Given the description of an element on the screen output the (x, y) to click on. 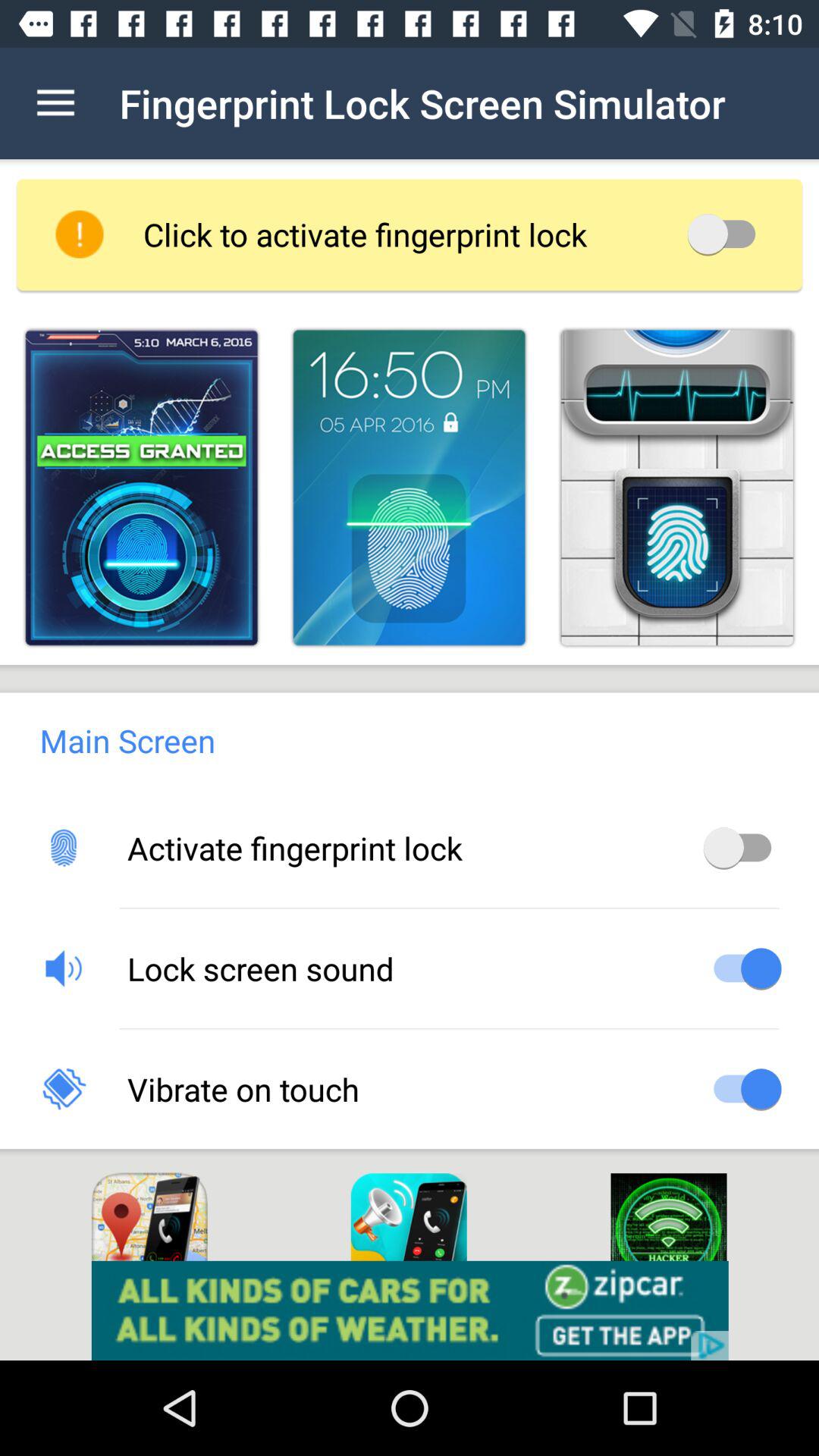
pop up advertisement (409, 1310)
